Given the description of an element on the screen output the (x, y) to click on. 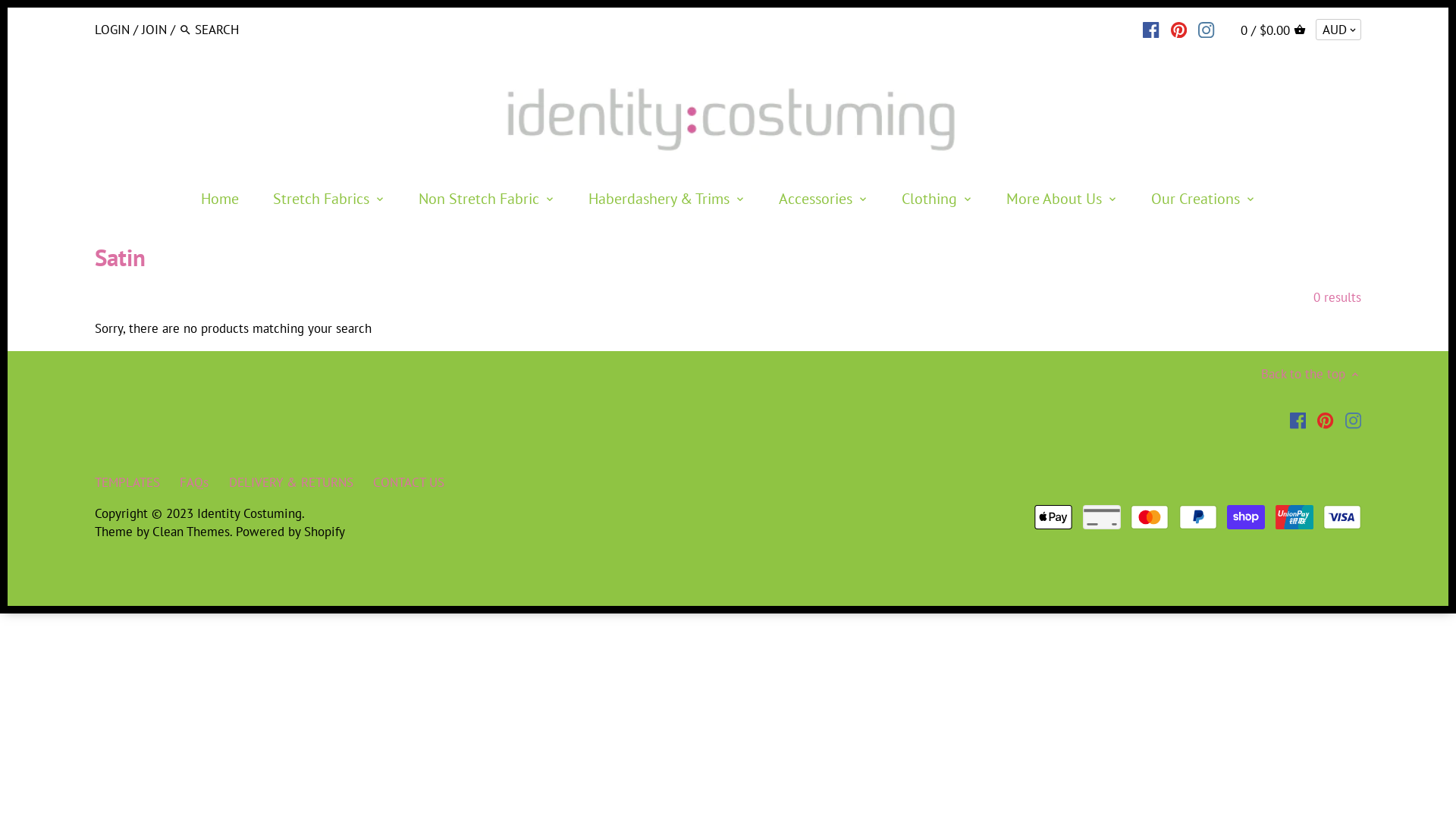
Haberdashery & Trims Element type: text (658, 201)
FACEBOOK Element type: text (1150, 27)
Clothing Element type: text (929, 201)
Non Stretch Fabric Element type: text (478, 201)
PINTEREST Element type: text (1178, 27)
FAQs Element type: text (193, 481)
LOGIN Element type: text (111, 29)
CONTACT US Element type: text (408, 481)
Home Element type: text (219, 201)
Pinterest Element type: text (1325, 420)
JOIN Element type: text (153, 29)
TEMPLATES Element type: text (127, 481)
Our Creations Element type: text (1195, 201)
More About Us Element type: text (1054, 201)
Identity Costuming Element type: text (249, 513)
Stretch Fabrics Element type: text (320, 201)
Back to the top Element type: text (1311, 373)
Powered by Shopify Element type: text (290, 531)
Clean Themes Element type: text (190, 531)
INSTAGRAM Element type: text (1206, 27)
Accessories Element type: text (815, 201)
DELIVERY & RETURNS Element type: text (291, 481)
Search Element type: text (184, 29)
Facebook Element type: text (1297, 420)
0 / $0.00 CART Element type: text (1272, 28)
Instagram Element type: text (1353, 420)
